Given the description of an element on the screen output the (x, y) to click on. 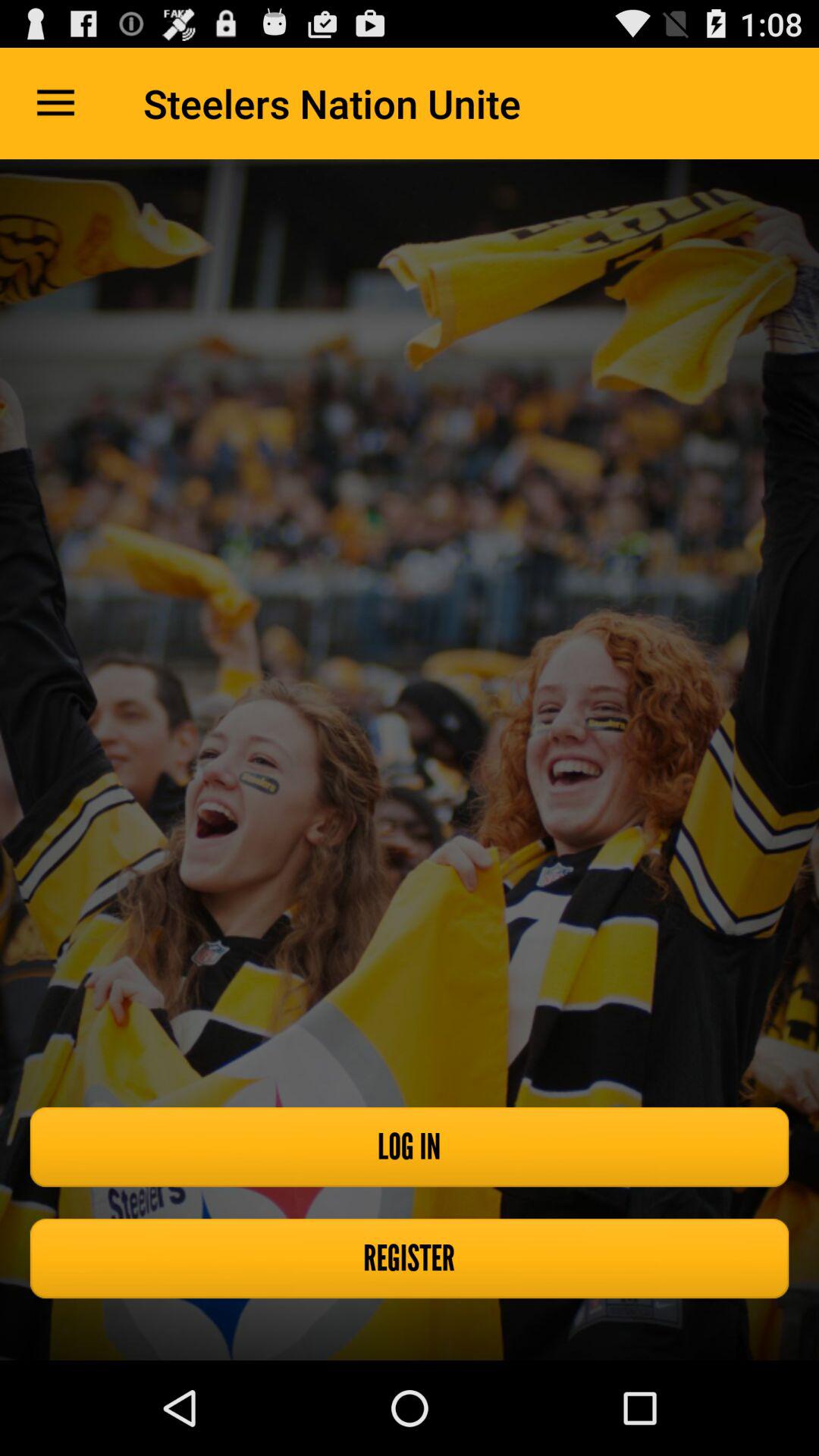
tap the app next to the steelers nation unite item (55, 103)
